Given the description of an element on the screen output the (x, y) to click on. 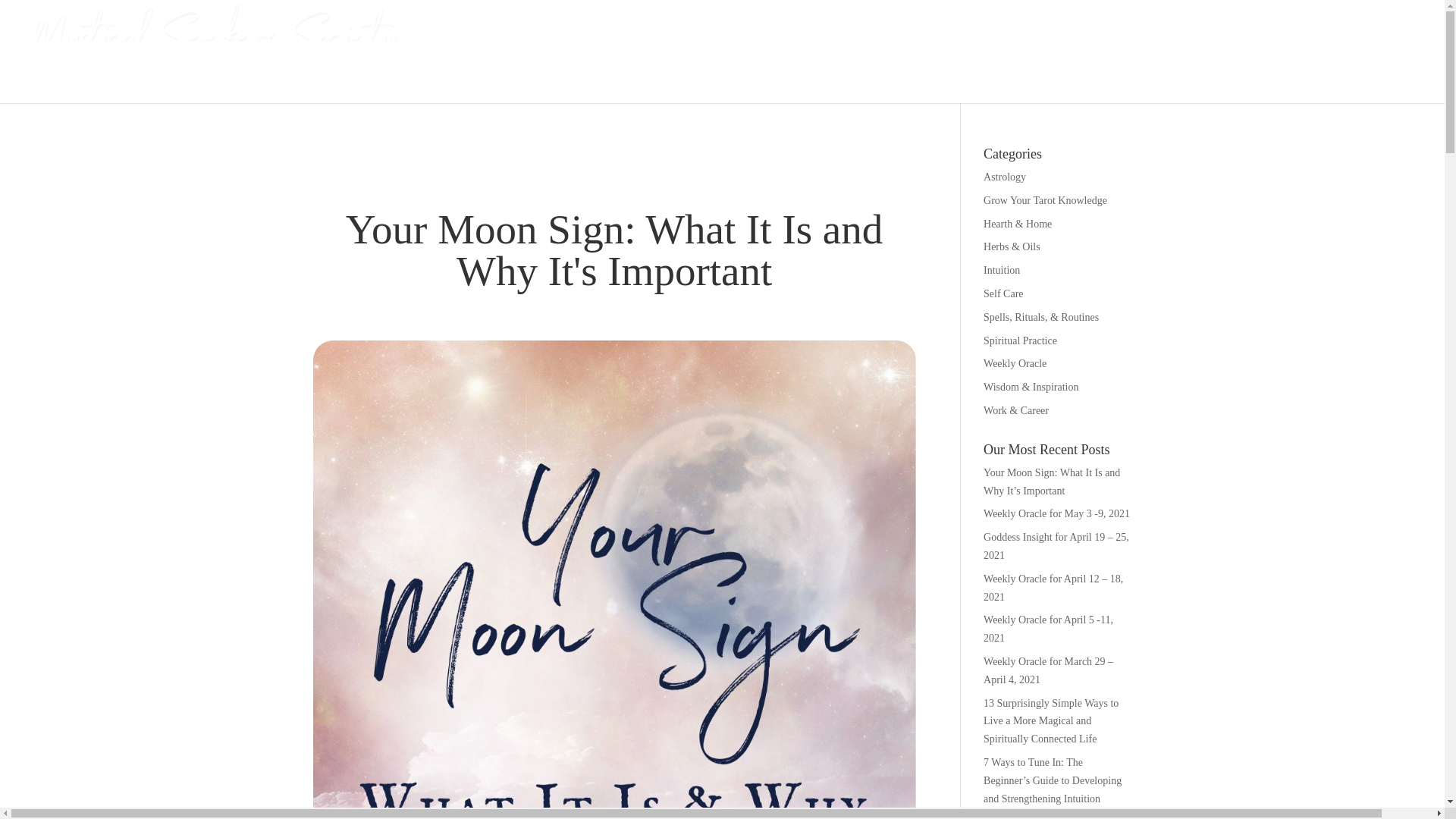
Astrology (1005, 176)
Everyday Magic (966, 74)
Spiritual Growth (1160, 74)
Grow Your Tarot Knowledge (1045, 200)
Lifestyle (1267, 74)
Self Care (1003, 293)
Weekly Oracle (1015, 363)
Spiritual Practice (1020, 340)
Weekly Oracle for May 3 -9, 2021 (1056, 513)
